Given the description of an element on the screen output the (x, y) to click on. 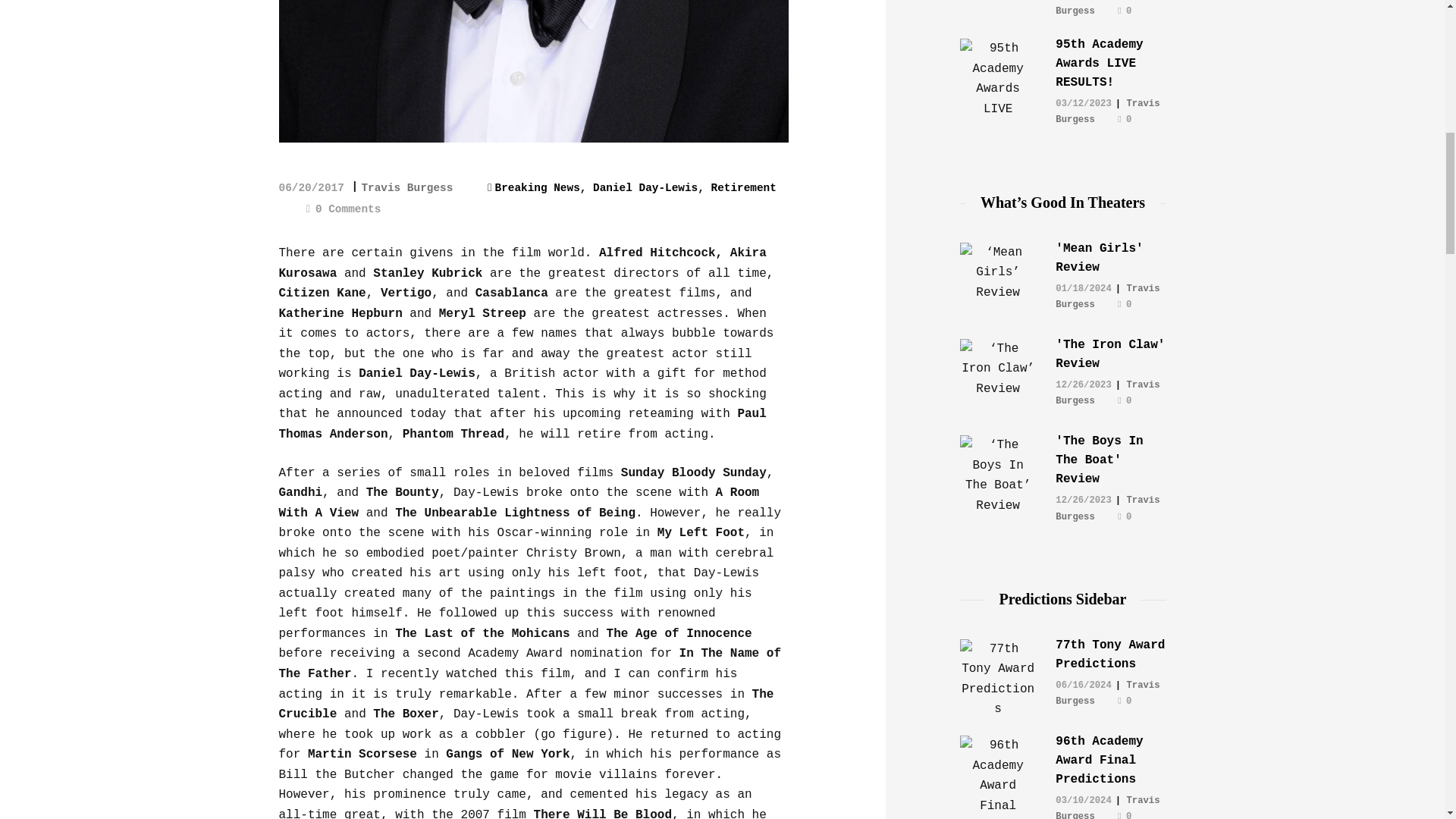
Comments - 0 (343, 209)
BREAKING NEWS: Daniel Day-Lewis Retires From Acting (534, 71)
